Given the description of an element on the screen output the (x, y) to click on. 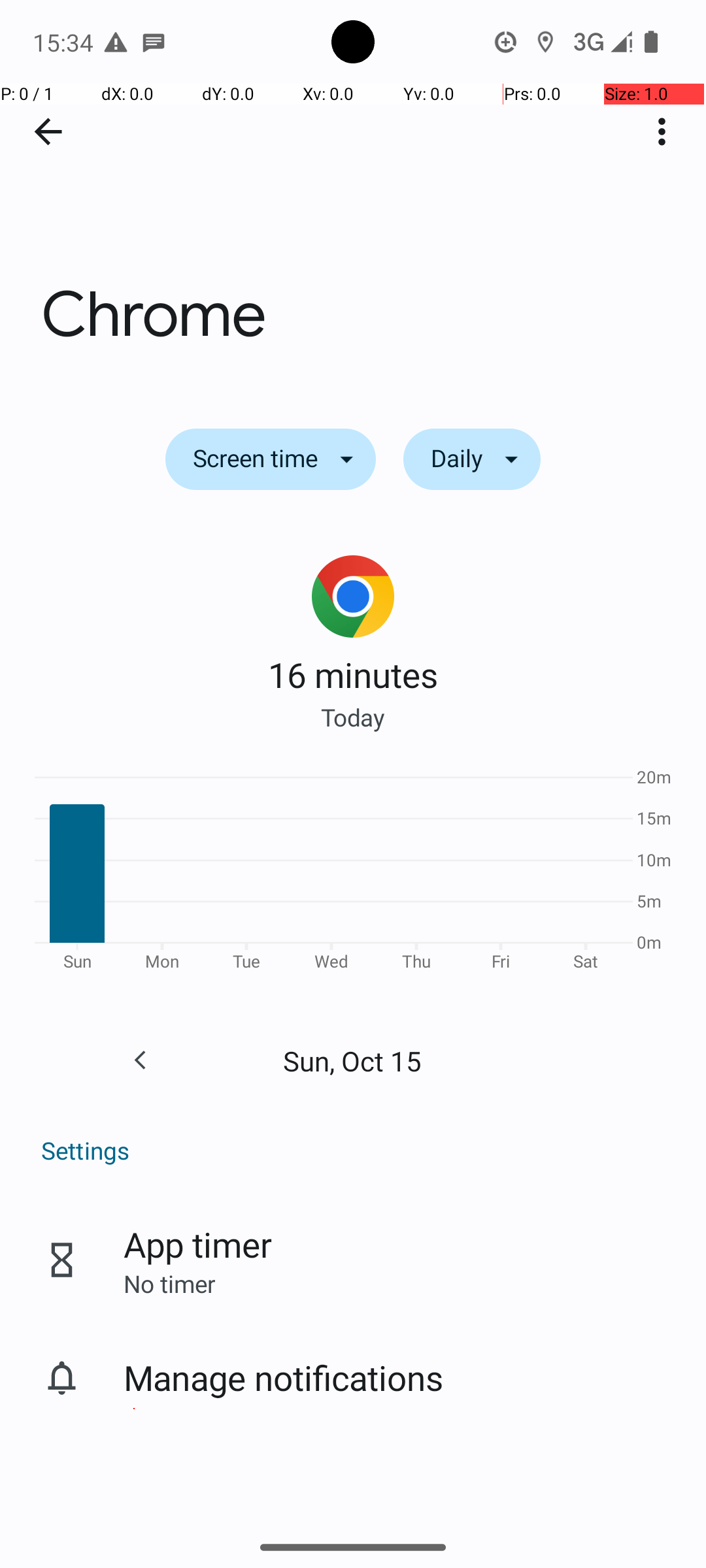
Daily Element type: android.widget.Spinner (471, 459)
16 minutes Element type: android.widget.TextView (353, 674)
Go to the previous day Element type: android.widget.Button (139, 1060)
App timer Element type: android.widget.TextView (197, 1244)
No timer Element type: android.widget.TextView (169, 1283)
Manage notifications Element type: android.widget.TextView (283, 1377)
